Given the description of an element on the screen output the (x, y) to click on. 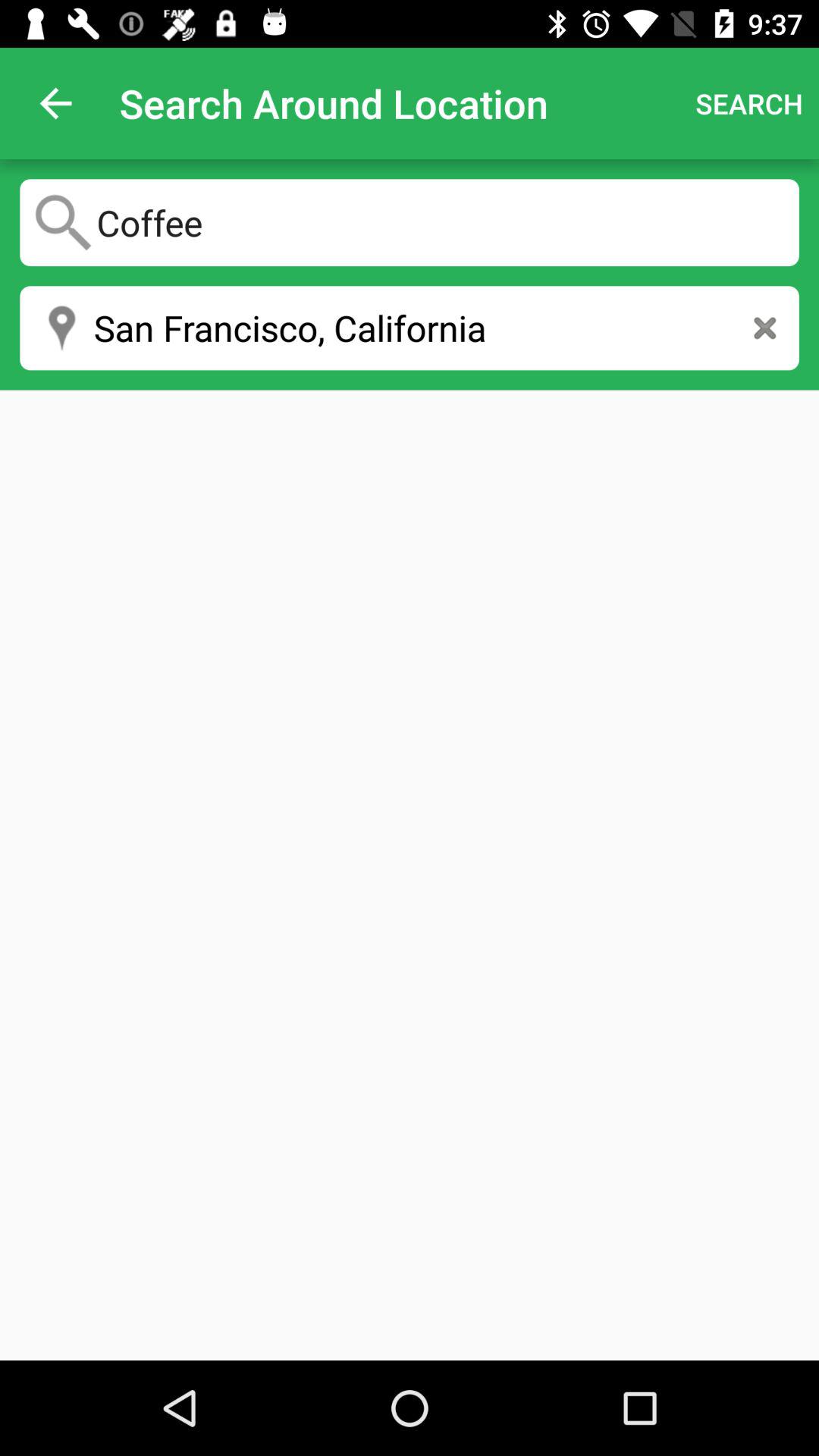
click coffee item (409, 222)
